Given the description of an element on the screen output the (x, y) to click on. 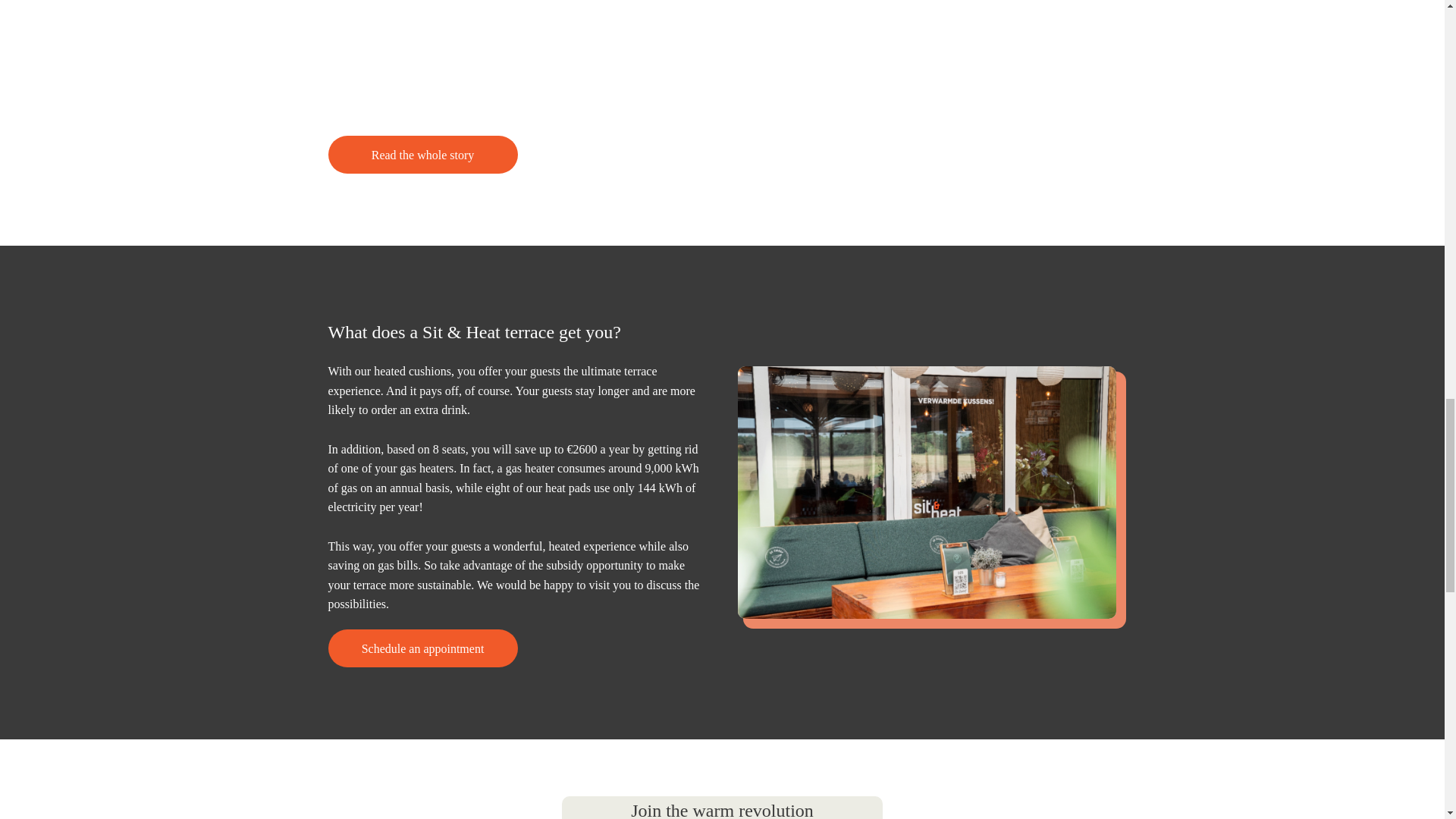
Read the whole story (421, 154)
